Given the description of an element on the screen output the (x, y) to click on. 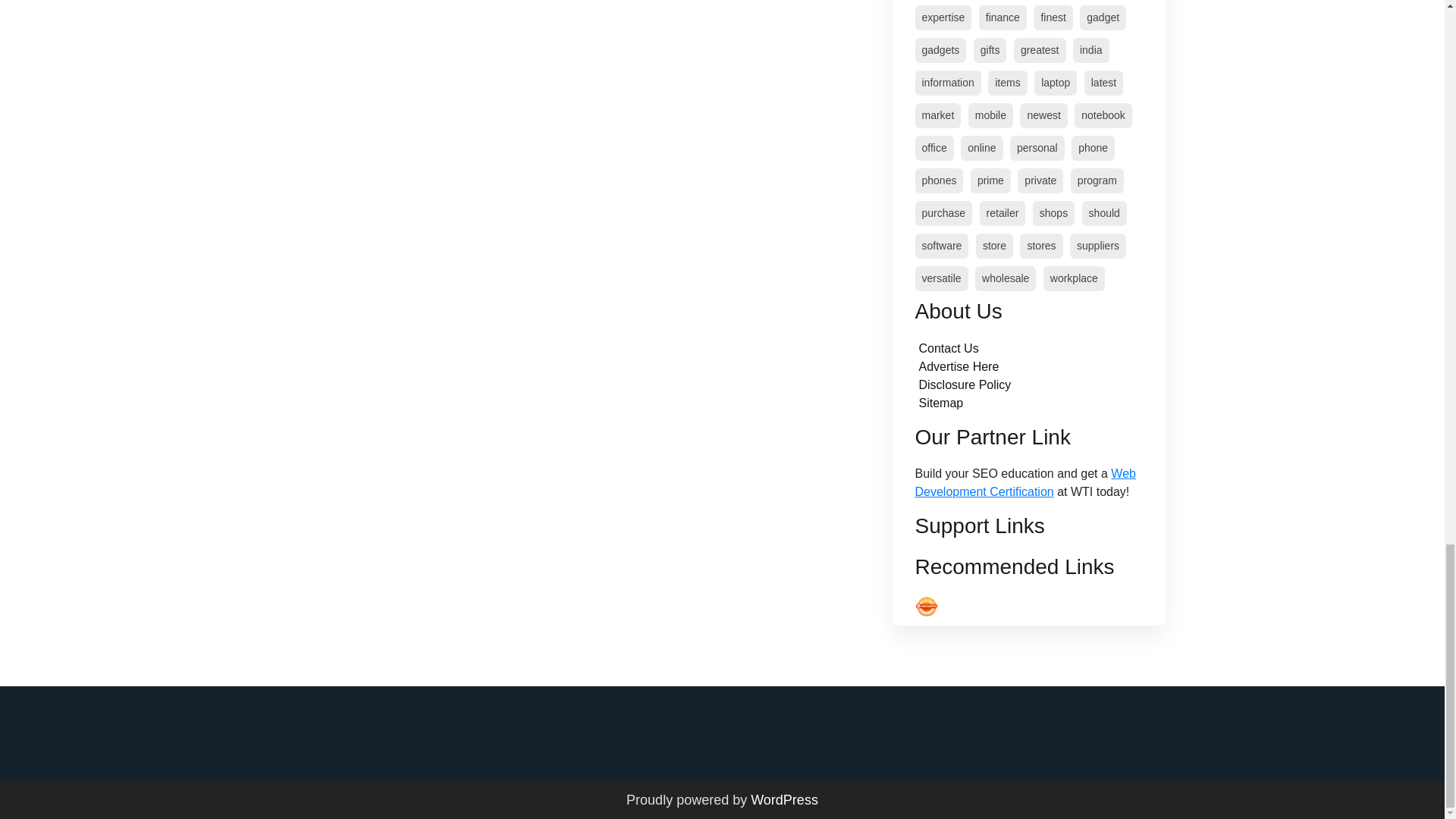
Seedbacklink (925, 606)
